Given the description of an element on the screen output the (x, y) to click on. 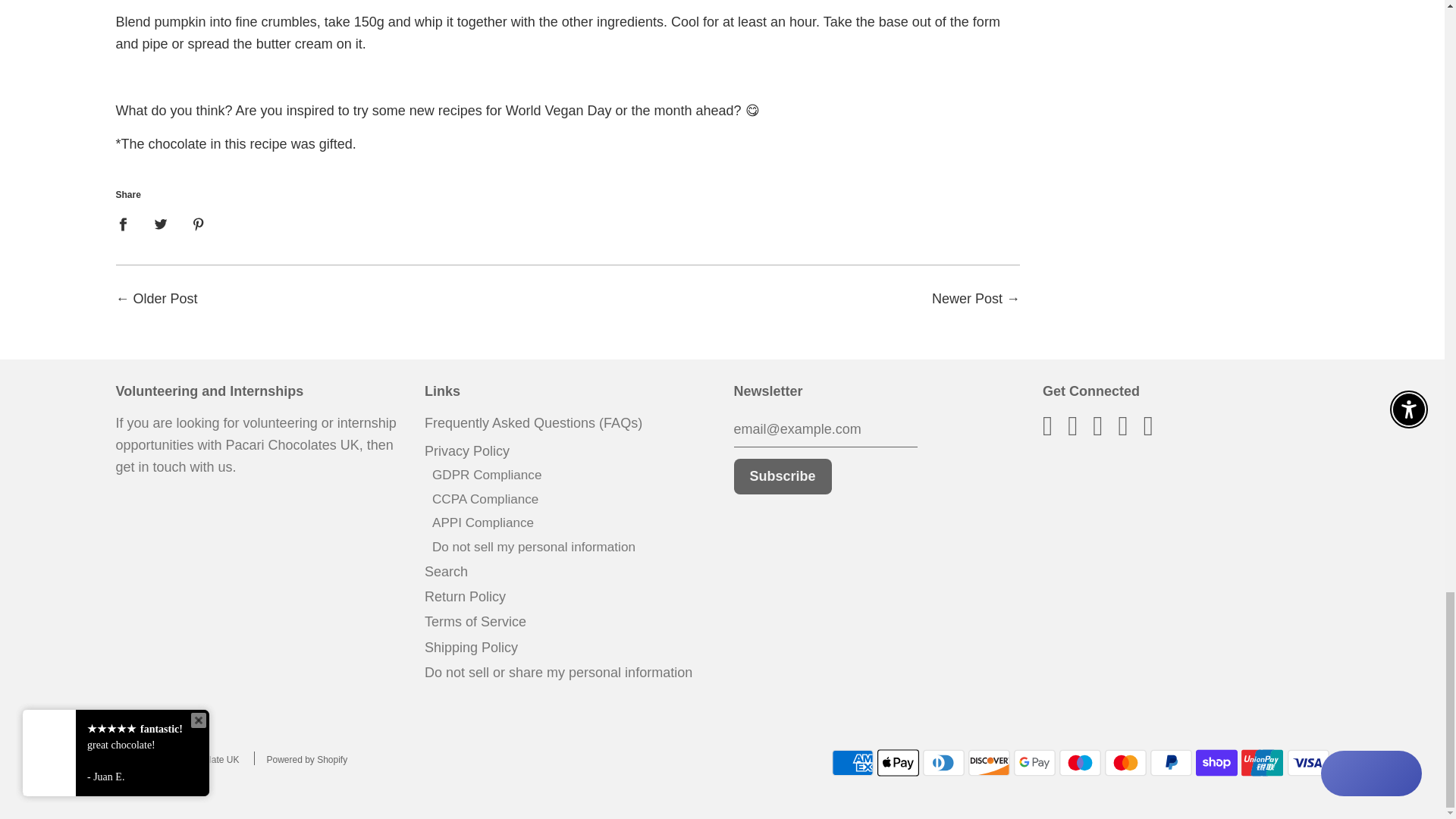
Maestro (1079, 762)
Subscribe (782, 476)
Apple Pay (897, 762)
American Express (852, 762)
Discover (989, 762)
Shop Pay (1216, 762)
PayPal (1171, 762)
Mastercard (1126, 762)
Visa (1308, 762)
Google Pay (1034, 762)
Diners Club (943, 762)
Union Pay (1261, 762)
